Given the description of an element on the screen output the (x, y) to click on. 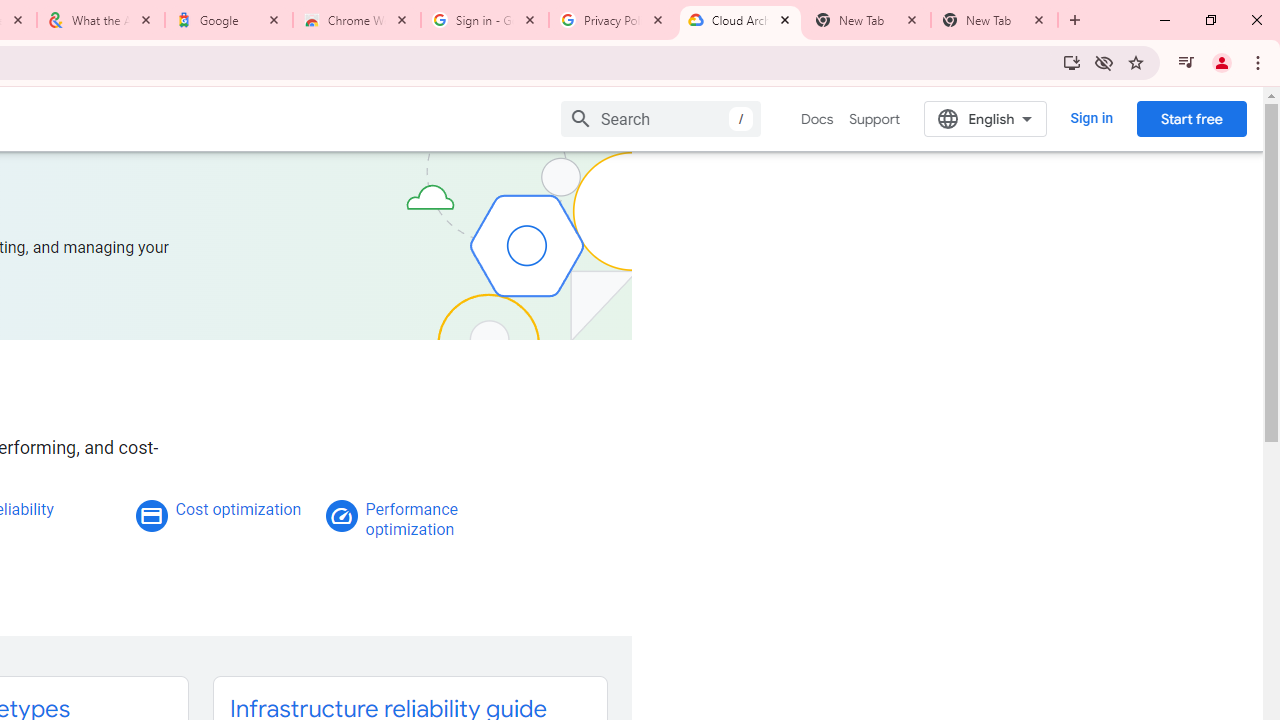
Cost optimization (238, 509)
Install Google Cloud (1071, 62)
Google (229, 20)
Docs (817, 119)
Performance optimization (411, 519)
Sign in - Google Accounts (485, 20)
